Given the description of an element on the screen output the (x, y) to click on. 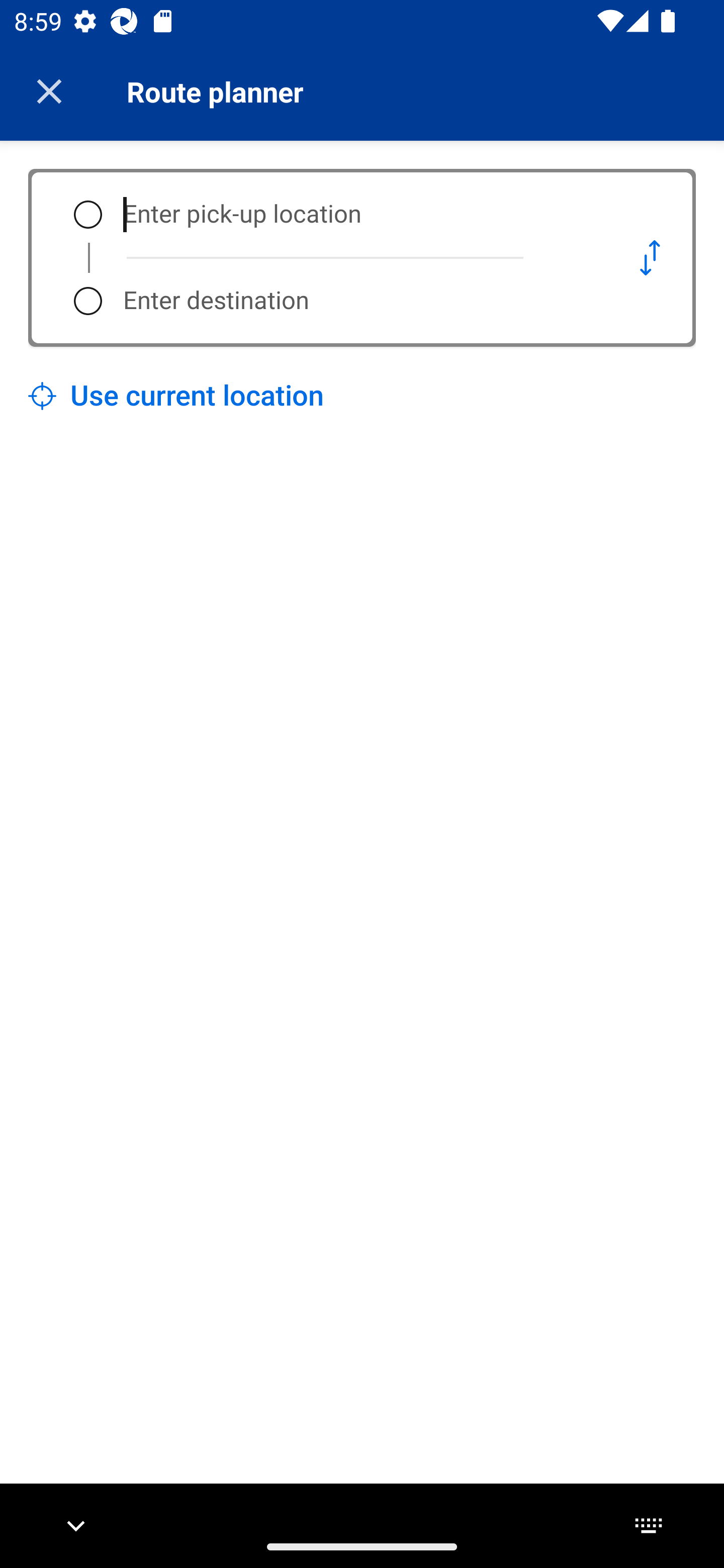
Close (49, 91)
Enter pick-up location (355, 214)
Swap pick-up location and destination (650, 257)
Enter destination (355, 300)
Use current location (176, 395)
